Given the description of an element on the screen output the (x, y) to click on. 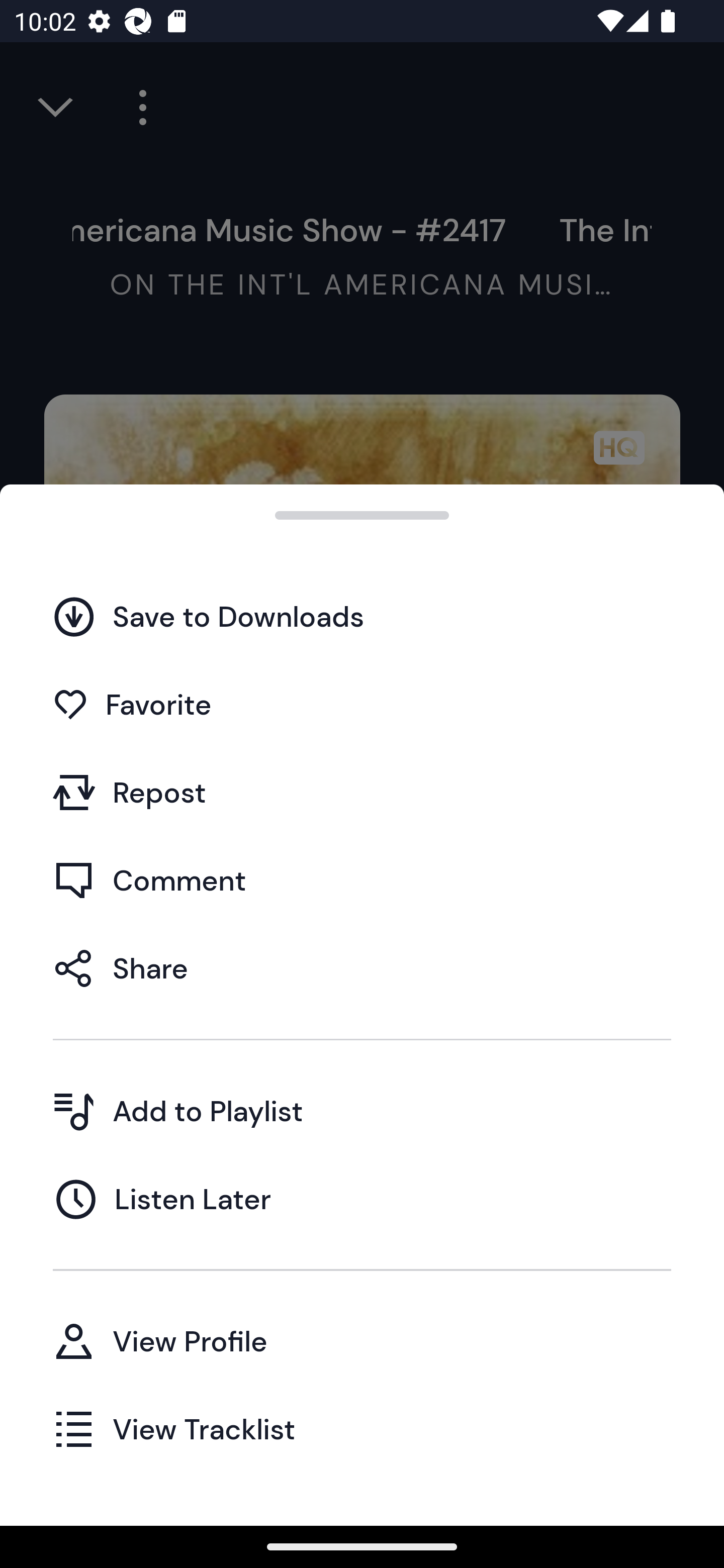
Save to Downloads (361, 616)
Favorite (361, 703)
Repost (361, 791)
Comment (361, 879)
Share (361, 967)
Ambient (361, 1085)
Bass & Club music (361, 1174)
View Profile (361, 1340)
View Tracklist (361, 1428)
